Given the description of an element on the screen output the (x, y) to click on. 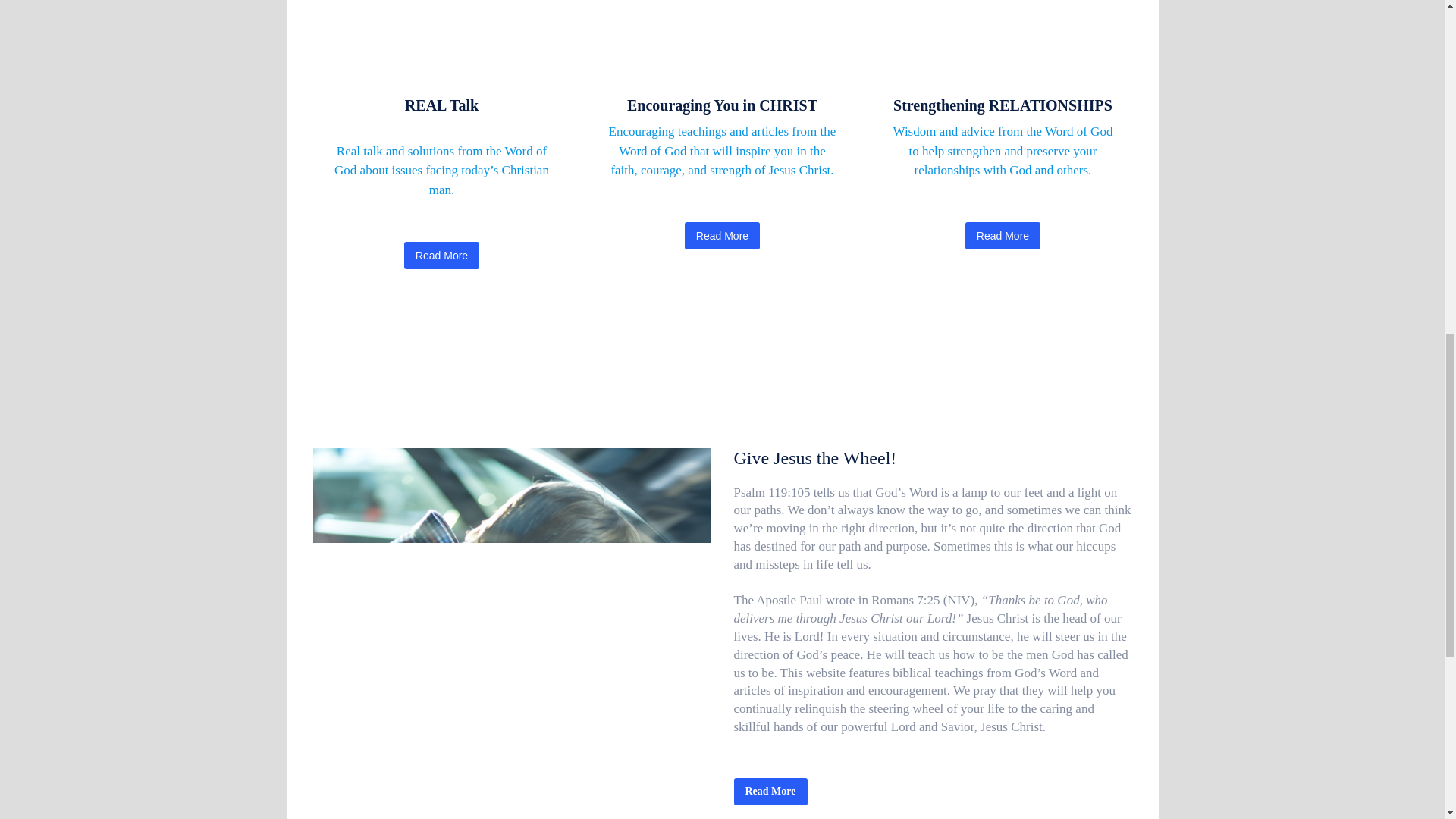
Read More (1003, 235)
Read More (441, 255)
Read More (770, 791)
Read More (722, 235)
